Given the description of an element on the screen output the (x, y) to click on. 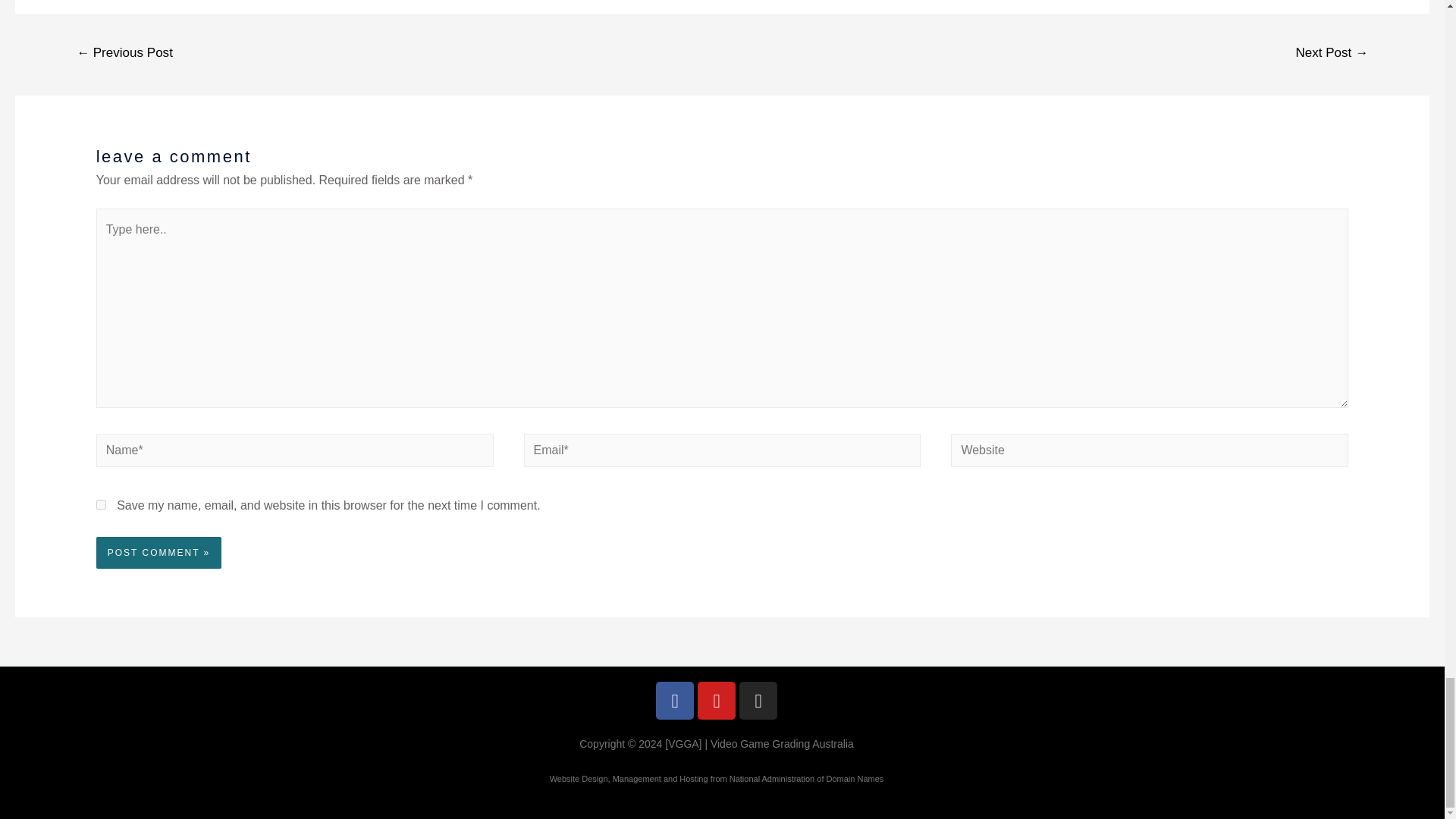
yes (101, 504)
